Given the description of an element on the screen output the (x, y) to click on. 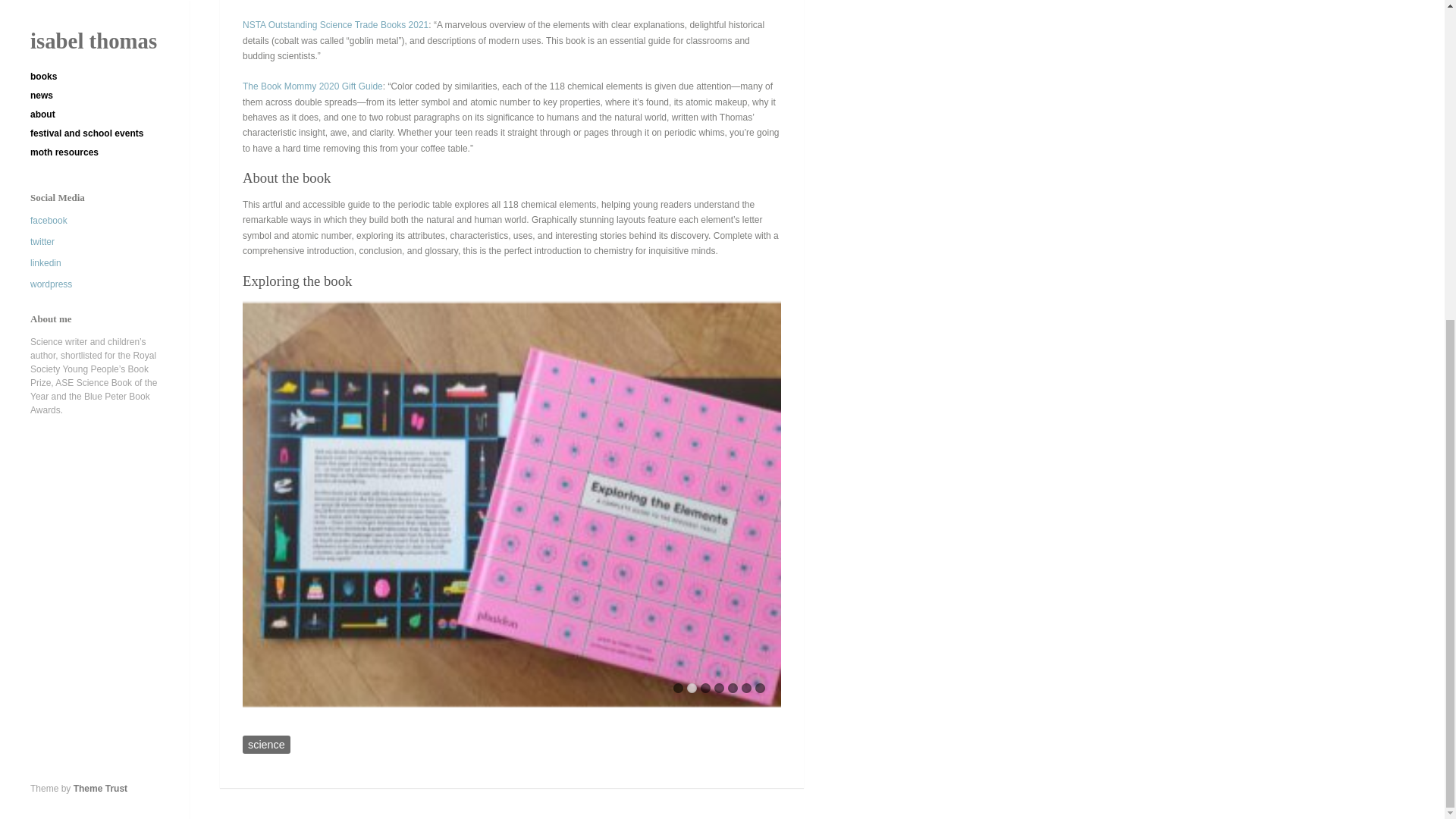
The Book Mommy 2020 Gift Guide (312, 86)
1 (677, 687)
5 (733, 687)
6 (746, 687)
4 (718, 687)
2 (692, 687)
3 (705, 687)
Premium WordPress Themes (101, 270)
NSTA Outstanding Science Trade Books 2021 (335, 24)
Theme Trust (101, 270)
science (266, 744)
7 (760, 687)
